Given the description of an element on the screen output the (x, y) to click on. 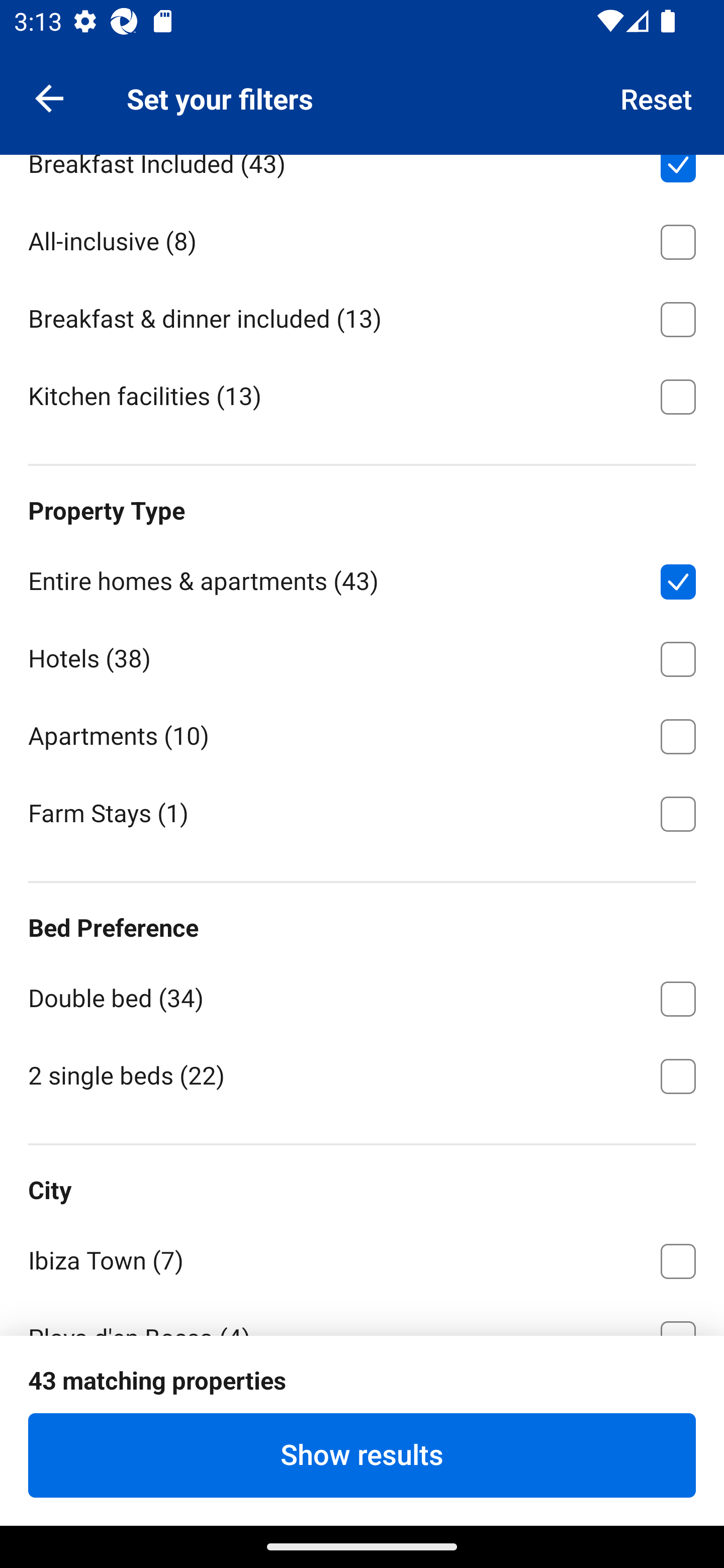
Navigate up (49, 97)
Reset (656, 97)
Breakfast Included ⁦(43) (361, 177)
All-inclusive ⁦(8) (361, 238)
Breakfast & dinner included ⁦(13) (361, 315)
Kitchen facilities ⁦(13) (361, 394)
Entire homes & apartments ⁦(43) (361, 578)
Hotels ⁦(38) (361, 655)
Apartments ⁦(10) (361, 732)
Farm Stays ⁦(1) (361, 811)
Double bed ⁦(34) (361, 995)
2 single beds ⁦(22) (361, 1074)
Ibiza Town ⁦(7) (361, 1257)
Show results (361, 1454)
